Given the description of an element on the screen output the (x, y) to click on. 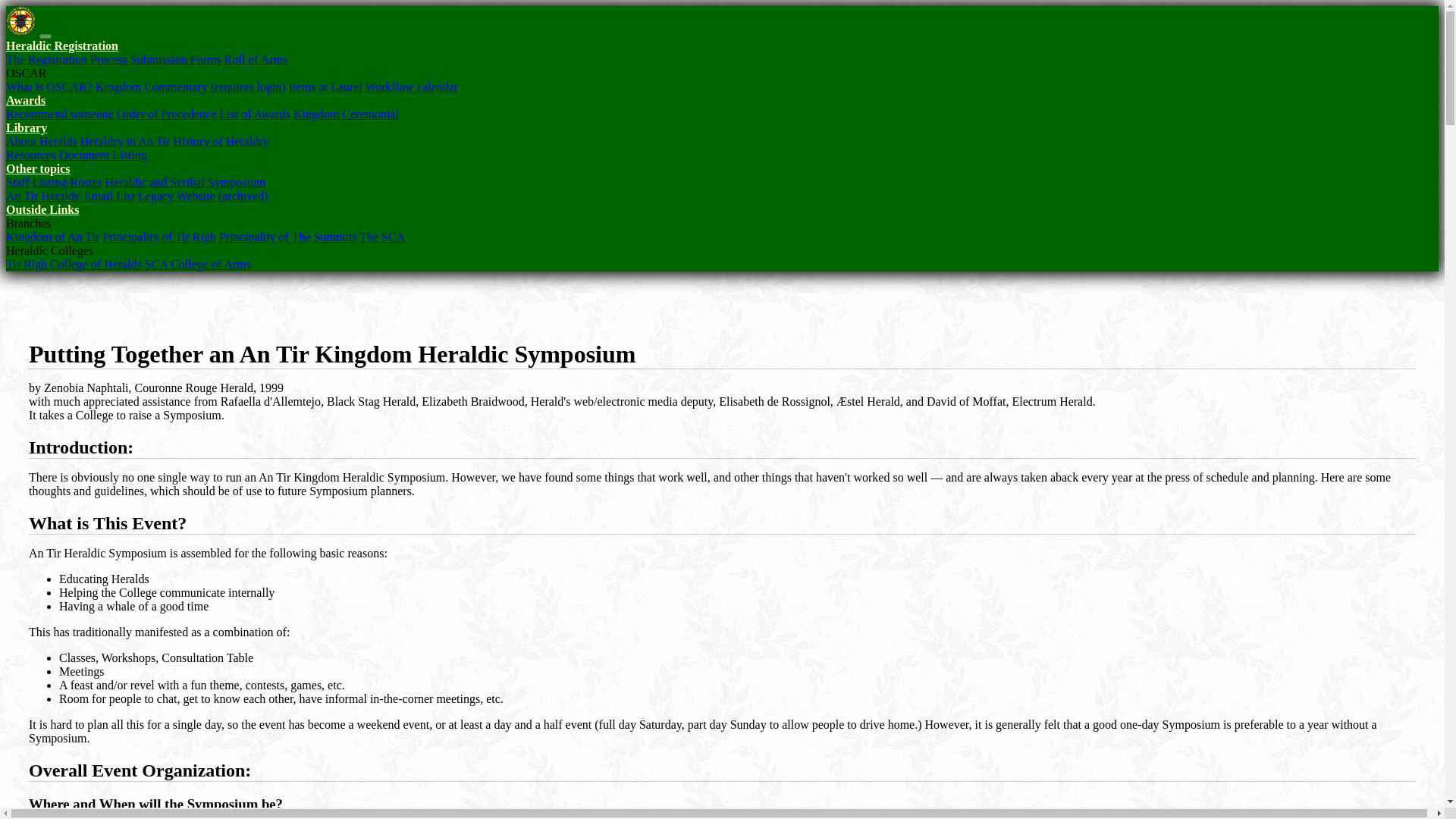
Document Listing (103, 154)
Heraldic and Scribal Symposium (184, 182)
Library (25, 127)
Submission Forms (176, 59)
Order of Precedence (165, 113)
Other topics (37, 168)
Items at Laurel (325, 86)
Heraldic Registration (61, 45)
An Tir Heralds' Email List (70, 195)
Heraldry in An Tir (125, 141)
About Heralds (41, 141)
SCA College of Arms (197, 264)
Kingdom Ceremonial (346, 113)
The Registration Process (66, 59)
The SCA (381, 236)
